Given the description of an element on the screen output the (x, y) to click on. 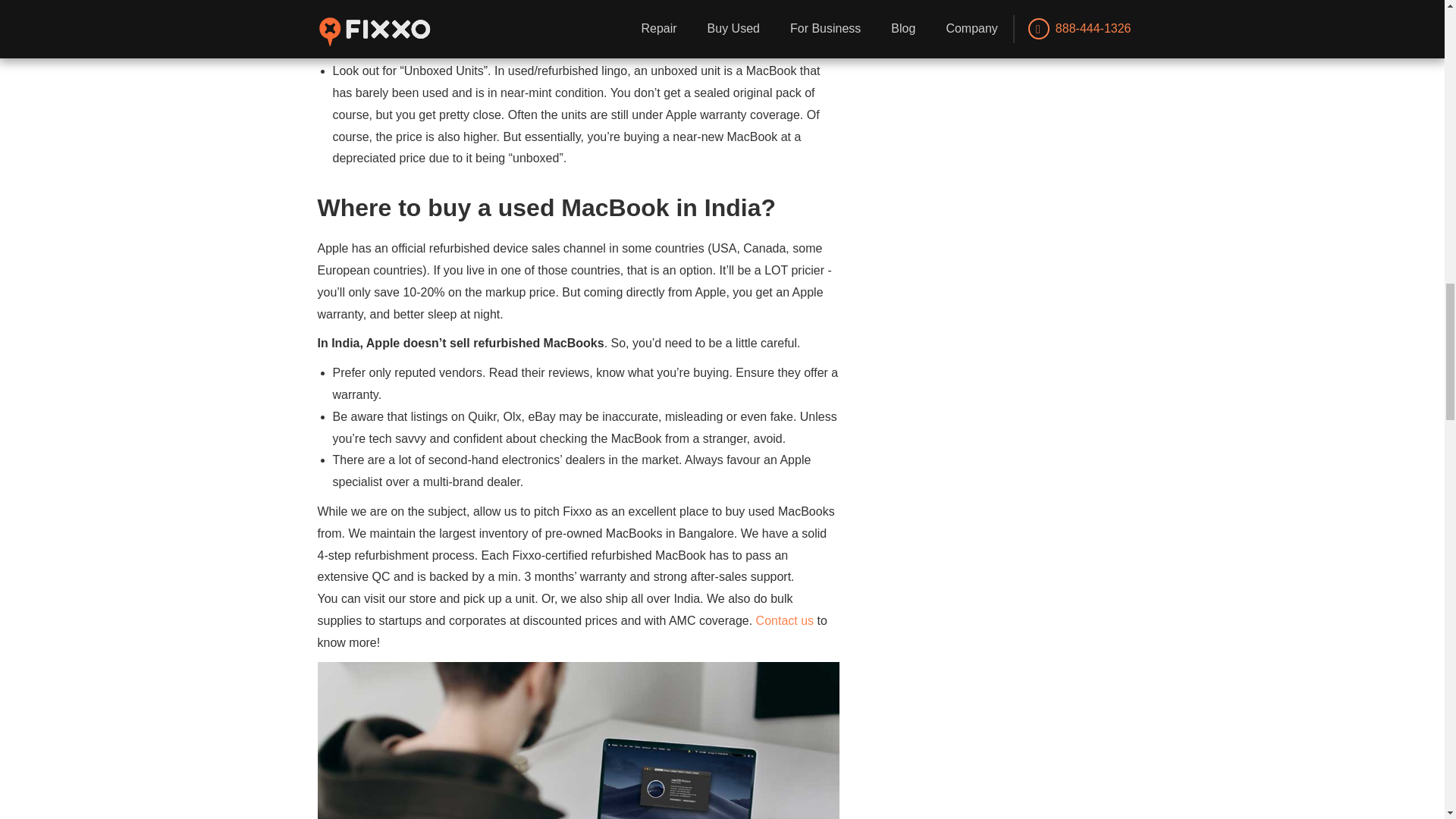
Contact us (784, 620)
Staingate issue in 2013-14 models (424, 6)
